Given the description of an element on the screen output the (x, y) to click on. 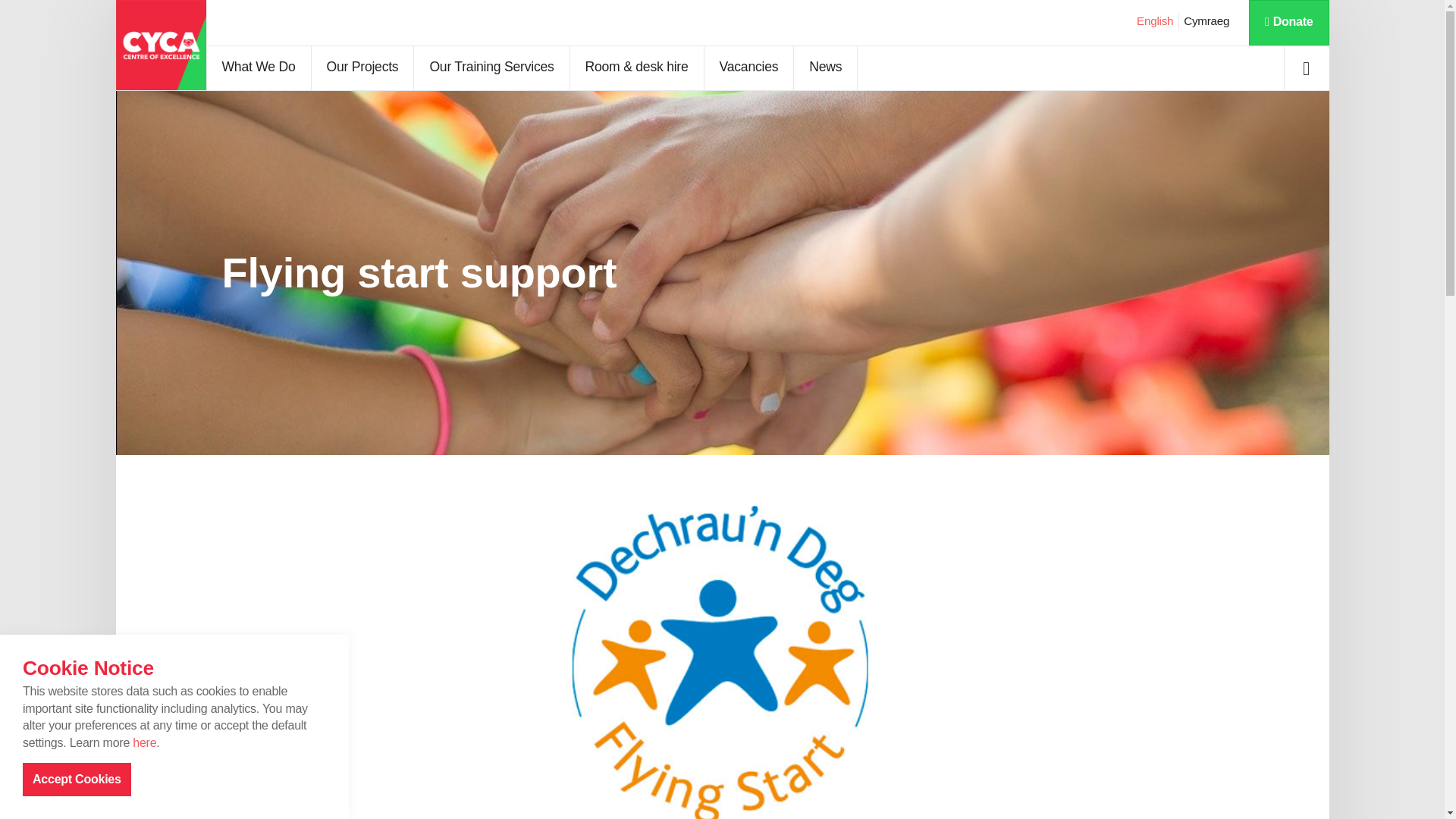
Cymraeg (1205, 21)
Skip to main content (721, 14)
Vacancies (748, 67)
Our Training Services (491, 67)
Accept Cookies (77, 779)
here (143, 742)
Donate (1288, 22)
News (825, 67)
Our Projects (362, 67)
What We Do (258, 67)
